Given the description of an element on the screen output the (x, y) to click on. 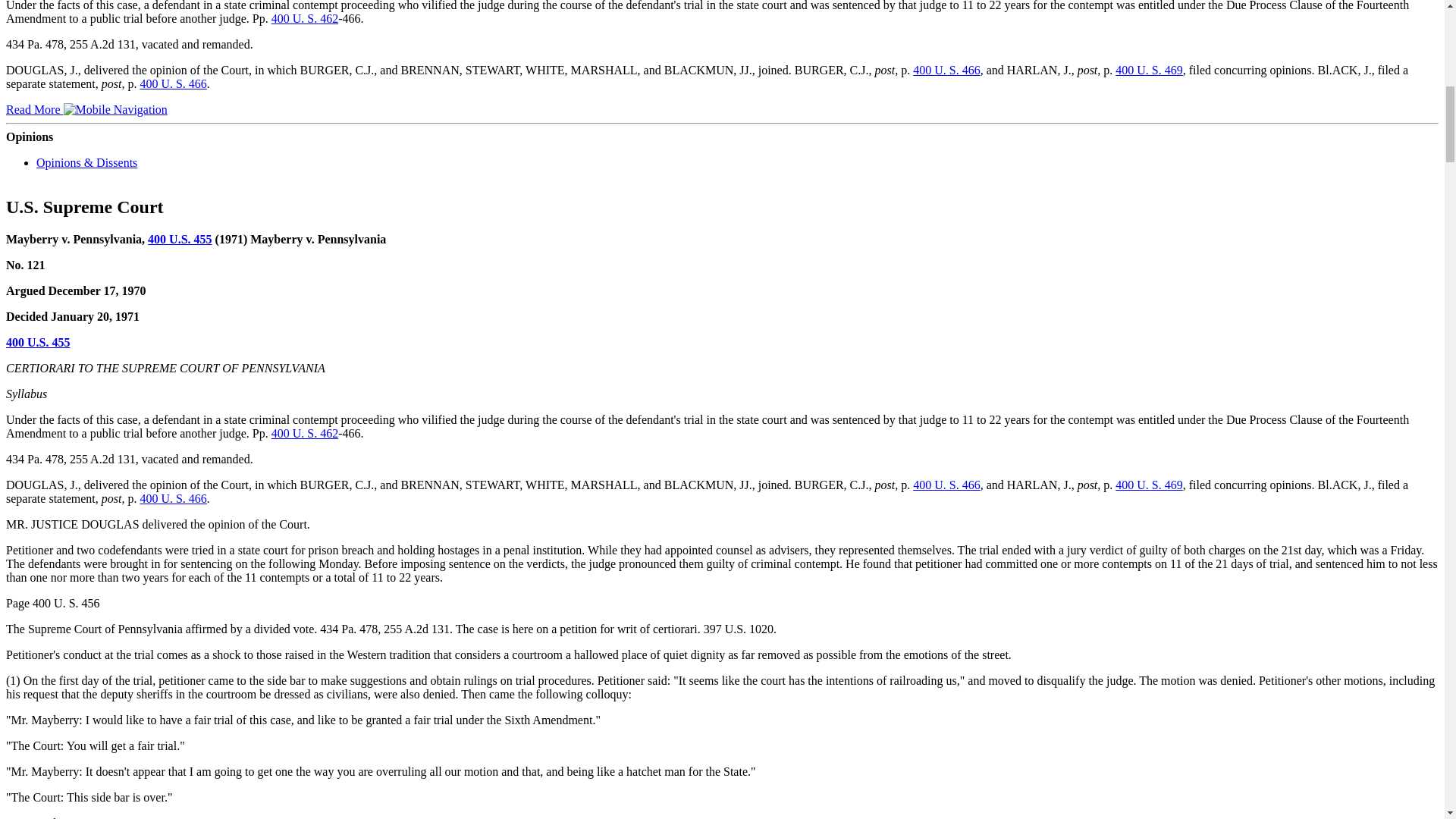
400 U. S. 462 (303, 18)
400 U. S. 466 (172, 83)
400 U. S. 466 (945, 69)
Mobile Navigation (115, 110)
400 U. S. 469 (1148, 69)
Read More (86, 109)
